Given the description of an element on the screen output the (x, y) to click on. 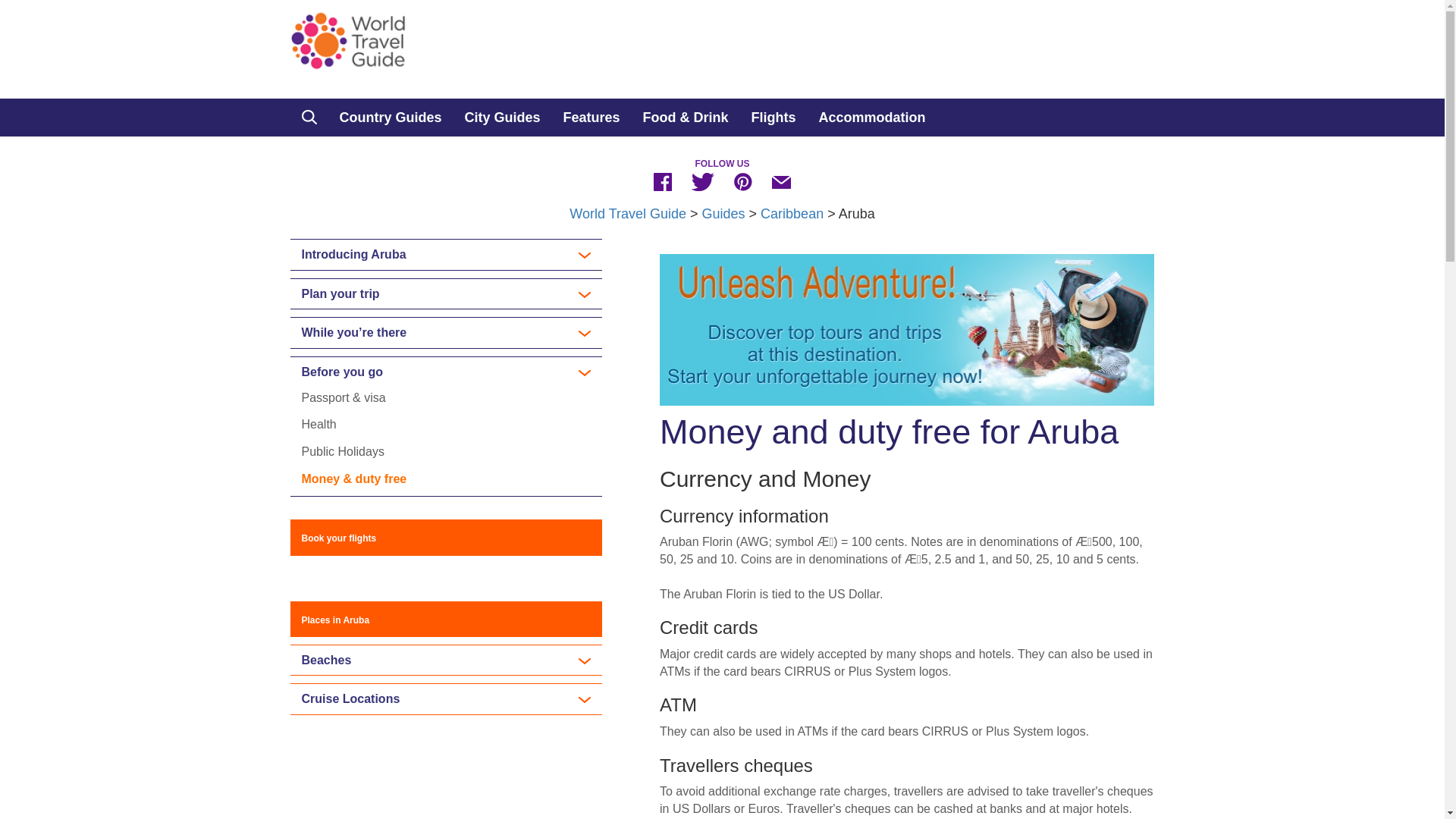
Beaches (446, 660)
Plan your trip (446, 294)
Introducing Aruba (446, 254)
World Travel Guide (627, 213)
Country Guides (389, 117)
Health (318, 423)
Guides (723, 213)
Cruise Locations (446, 698)
Accommodation (872, 117)
Public Holidays (342, 451)
Flights (773, 117)
Before you go (446, 372)
City Guides (501, 117)
Features (591, 117)
Caribbean (792, 213)
